Given the description of an element on the screen output the (x, y) to click on. 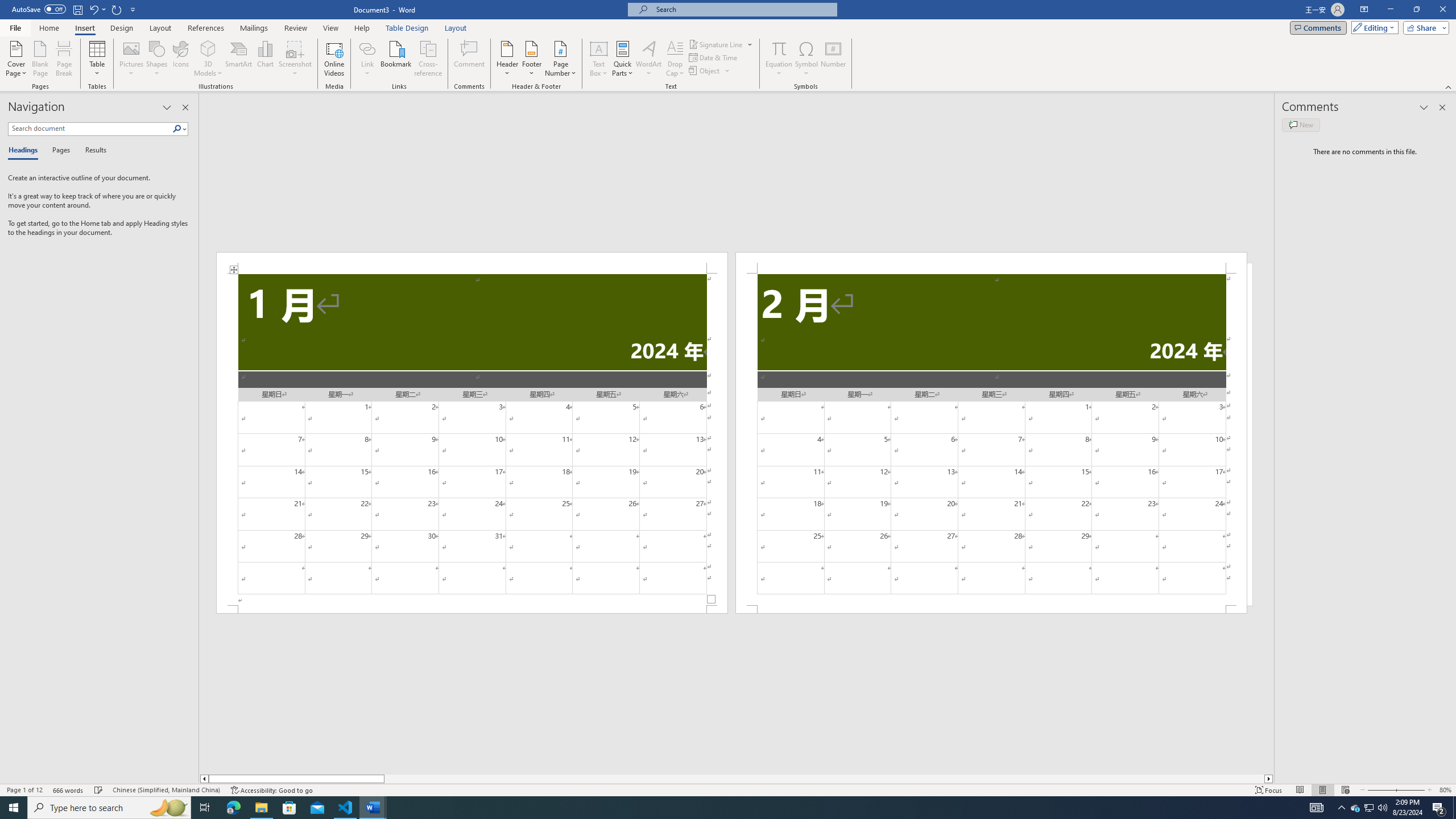
Equation (778, 48)
Page Number (560, 58)
3D Models (208, 58)
Header -Section 2- (991, 263)
New comment (1300, 124)
SmartArt... (238, 58)
Header (507, 58)
Blank Page (40, 58)
Language Chinese (Simplified, Mainland China) (165, 790)
Search document (89, 128)
Task Pane Options (167, 107)
Symbol (806, 58)
